Given the description of an element on the screen output the (x, y) to click on. 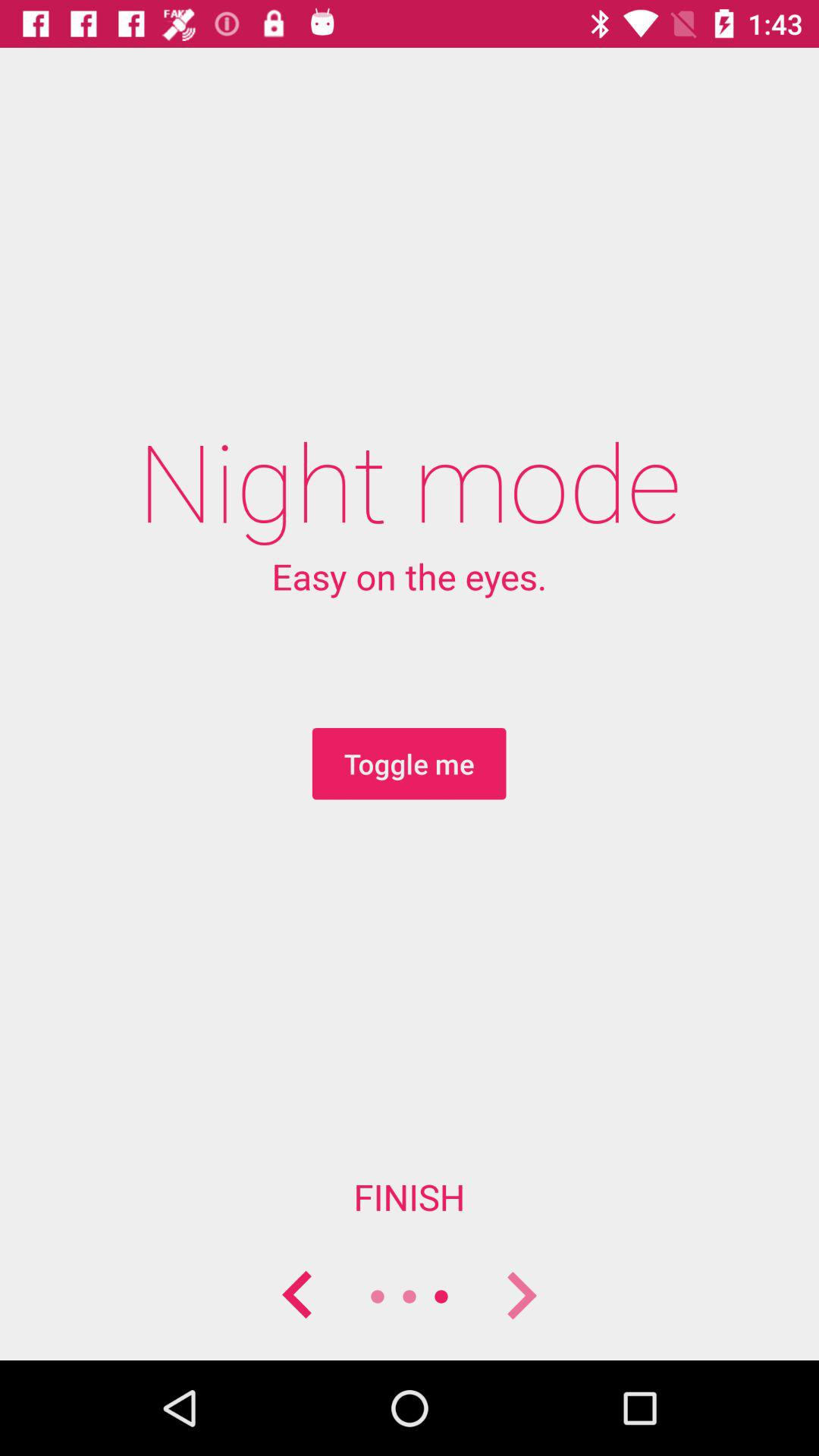
flip to finish item (409, 1197)
